Given the description of an element on the screen output the (x, y) to click on. 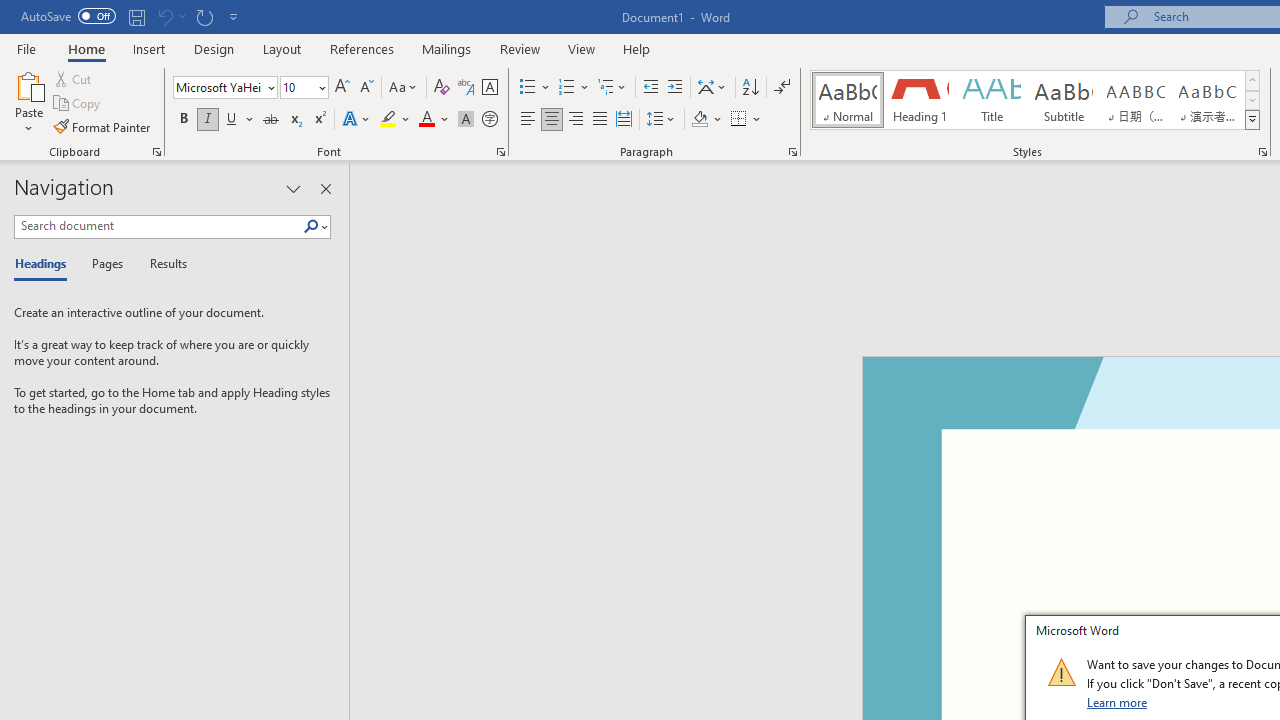
Row Down (1252, 100)
Shrink Font (365, 87)
Heading 1 (920, 100)
Superscript (319, 119)
Shading (706, 119)
AutomationID: QuickStylesGallery (1035, 99)
Font Color (434, 119)
Paragraph... (792, 151)
Can't Undo (164, 15)
Row up (1252, 79)
